Given the description of an element on the screen output the (x, y) to click on. 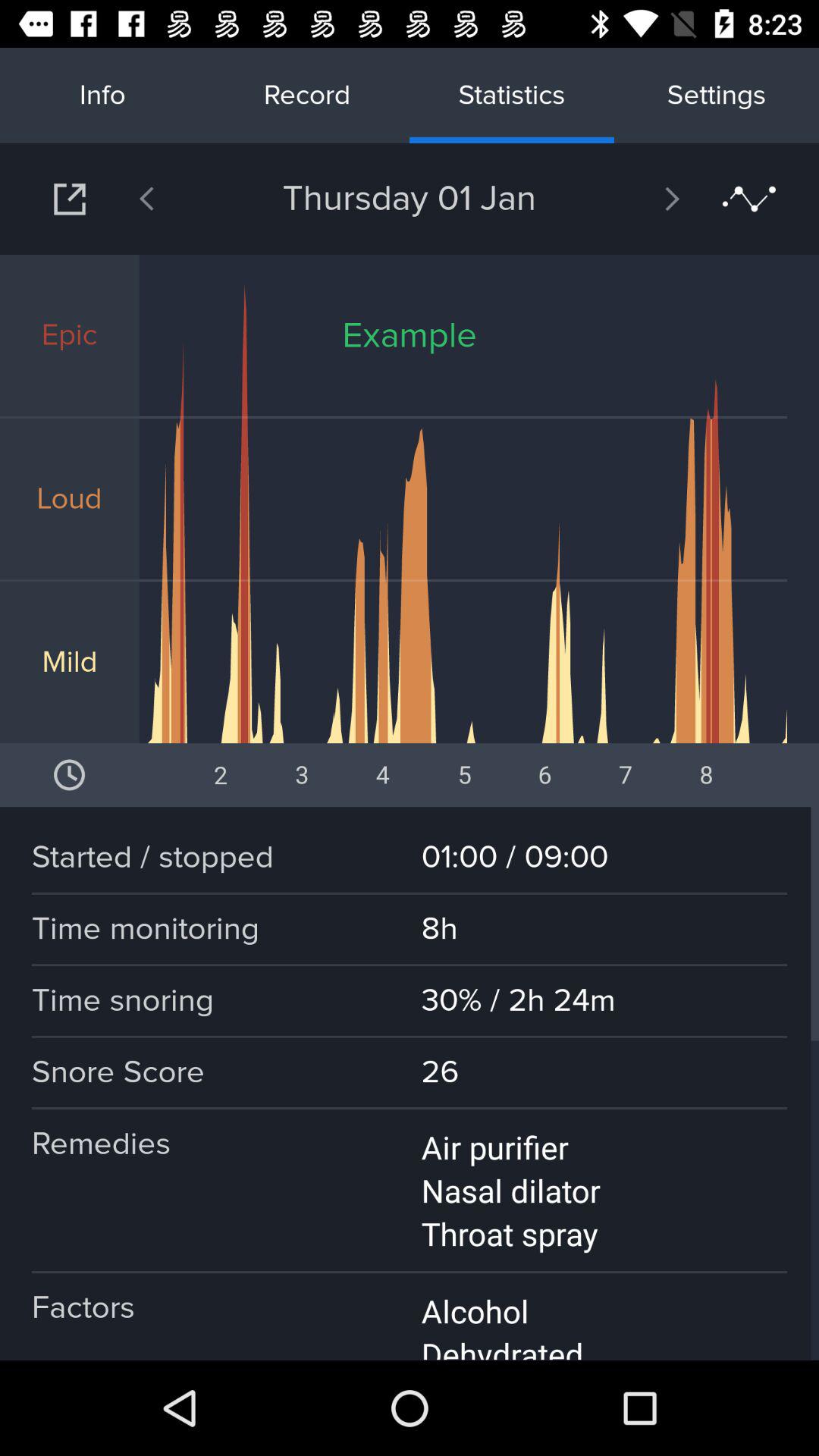
go back (186, 198)
